Given the description of an element on the screen output the (x, y) to click on. 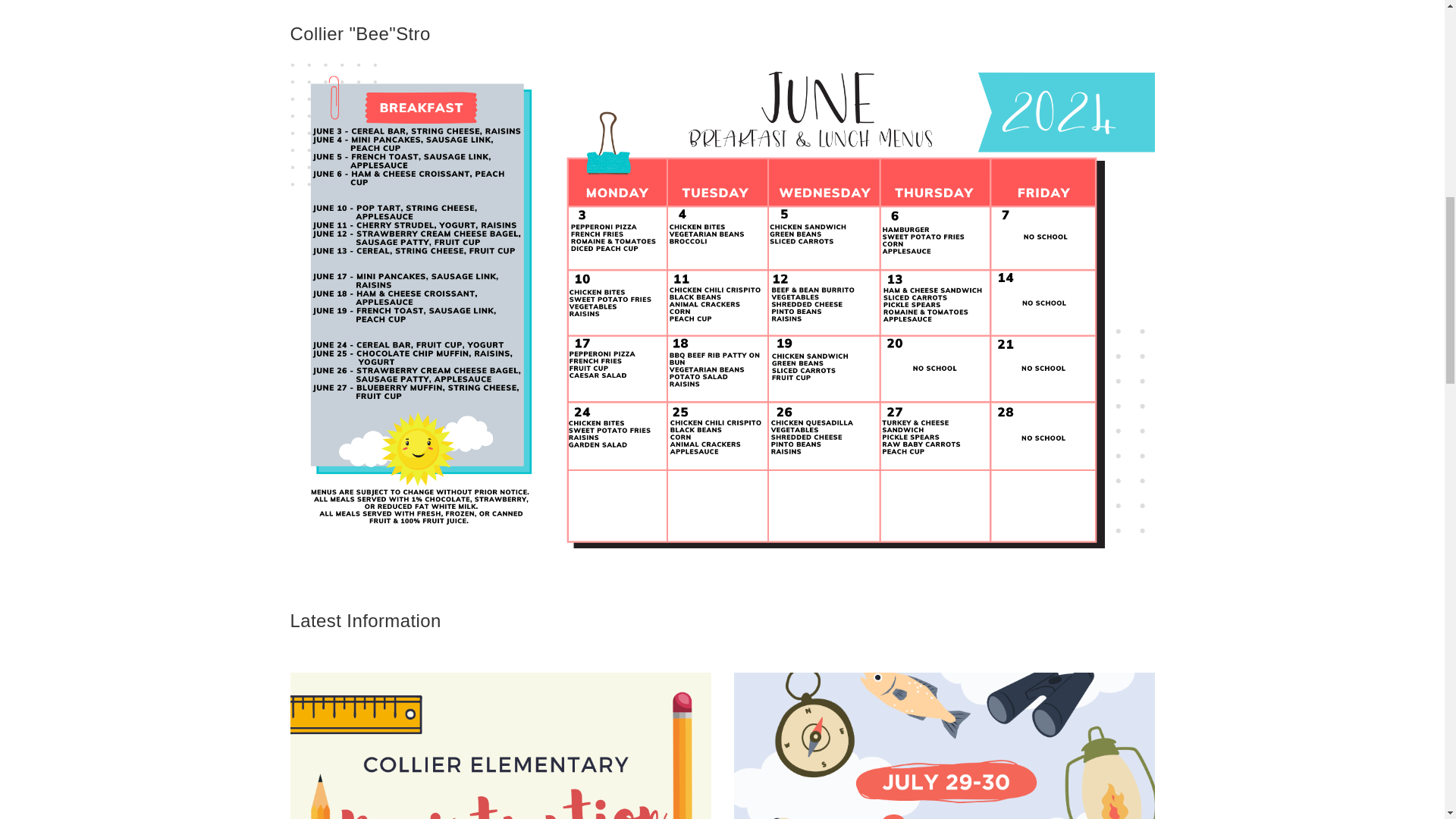
registration (499, 745)
Camp New-Bee 2024 (943, 745)
